Given the description of an element on the screen output the (x, y) to click on. 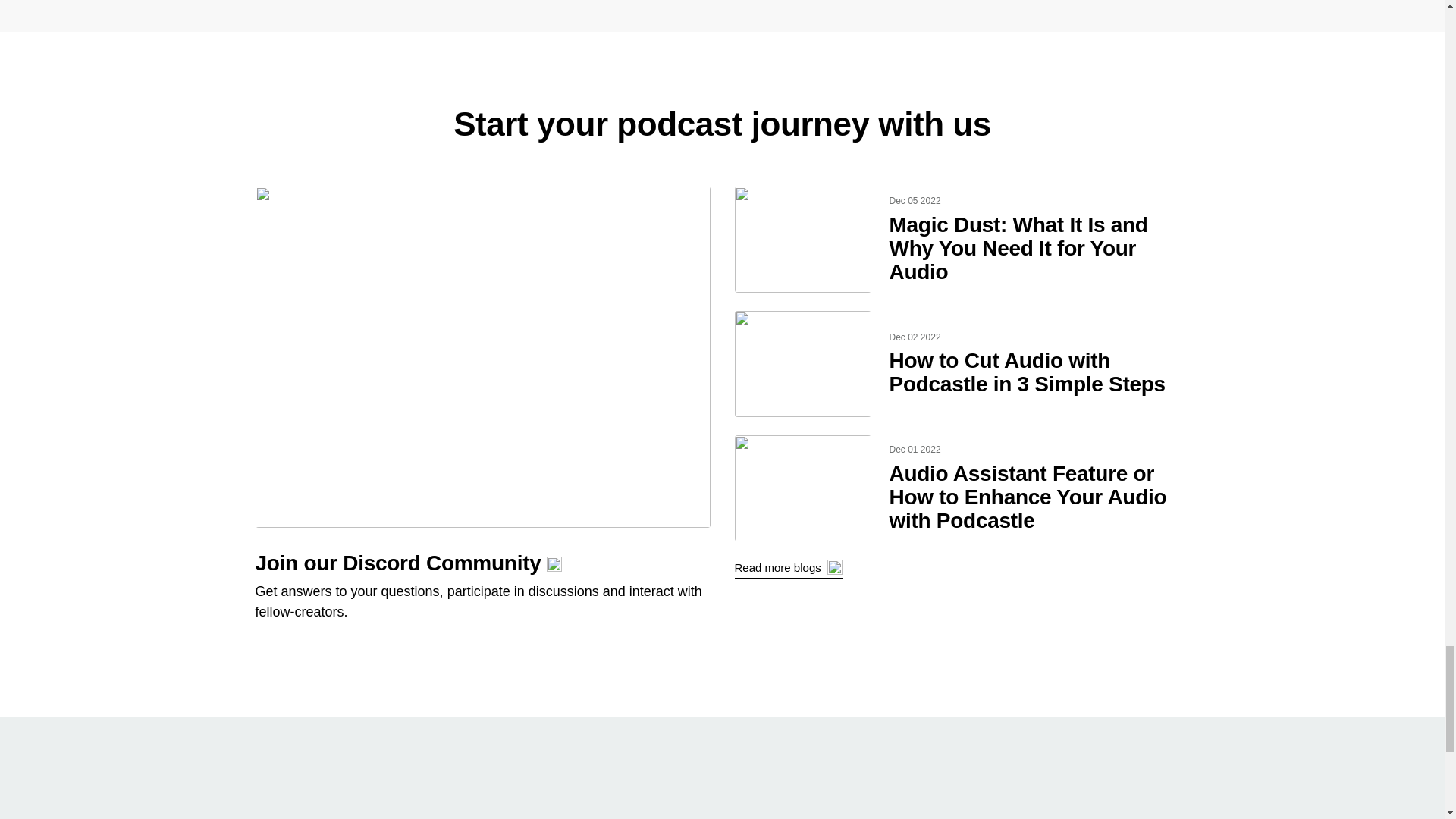
Read more blogs (787, 568)
